Given the description of an element on the screen output the (x, y) to click on. 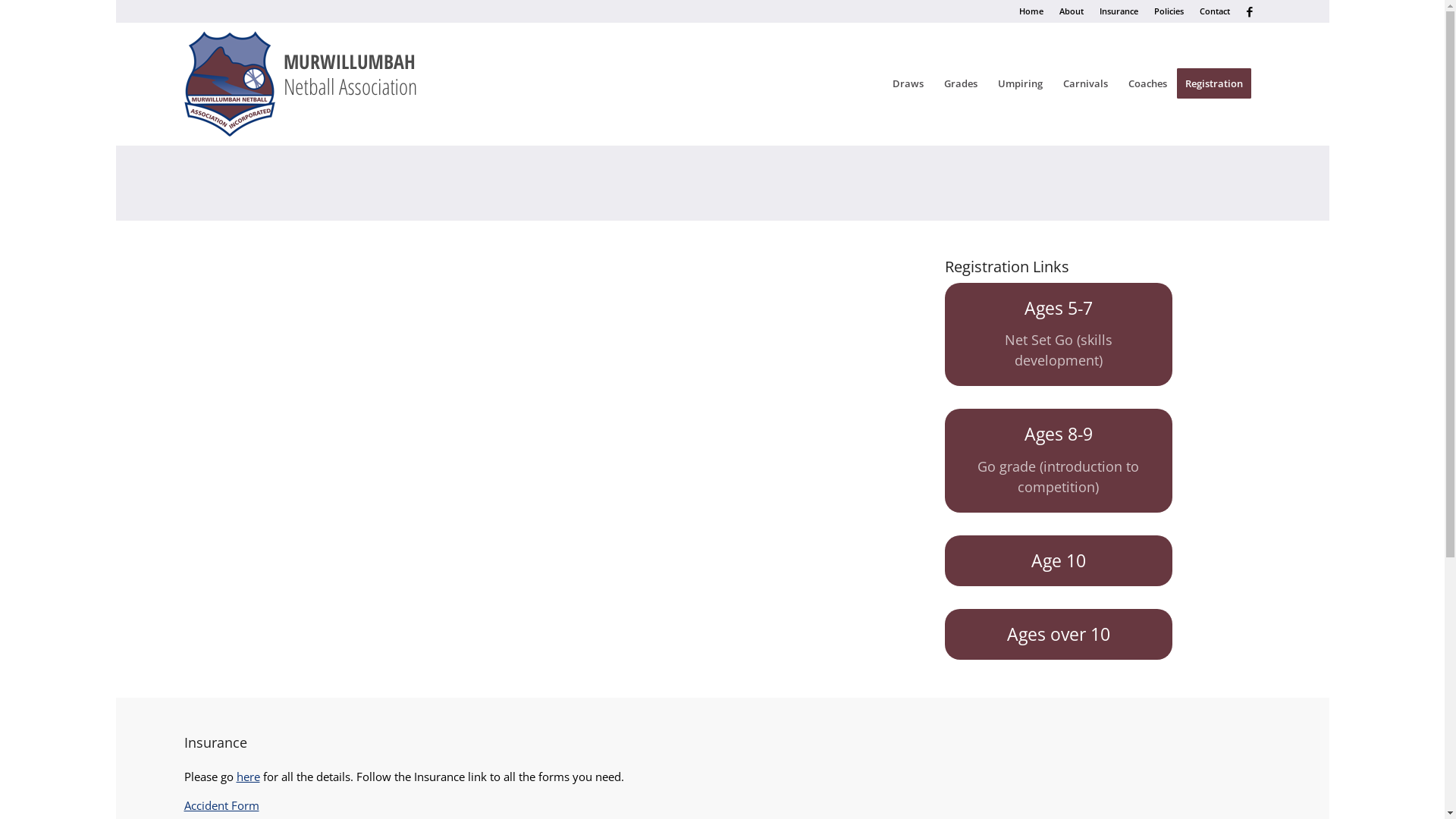
Coaches Element type: text (1146, 83)
Registration Element type: text (1218, 83)
Policies Element type: text (1168, 10)
Accident Form Element type: text (220, 804)
About Element type: text (1070, 10)
Ages 5-7
Net Set Go (skills development) Element type: text (1058, 333)
Umpiring Element type: text (1019, 83)
Insurance Element type: text (1118, 10)
Carnivals Element type: text (1084, 83)
Facebook Element type: hover (1248, 11)
logo Element type: hover (317, 83)
Ages 8-9
Go grade (introduction to competition) Element type: text (1058, 459)
Age 10 Element type: text (1058, 560)
Grades Element type: text (959, 83)
Ages over 10 Element type: text (1058, 633)
here Element type: text (248, 776)
Home Element type: text (1031, 10)
Contact Element type: text (1214, 10)
Draws Element type: text (907, 83)
